Given the description of an element on the screen output the (x, y) to click on. 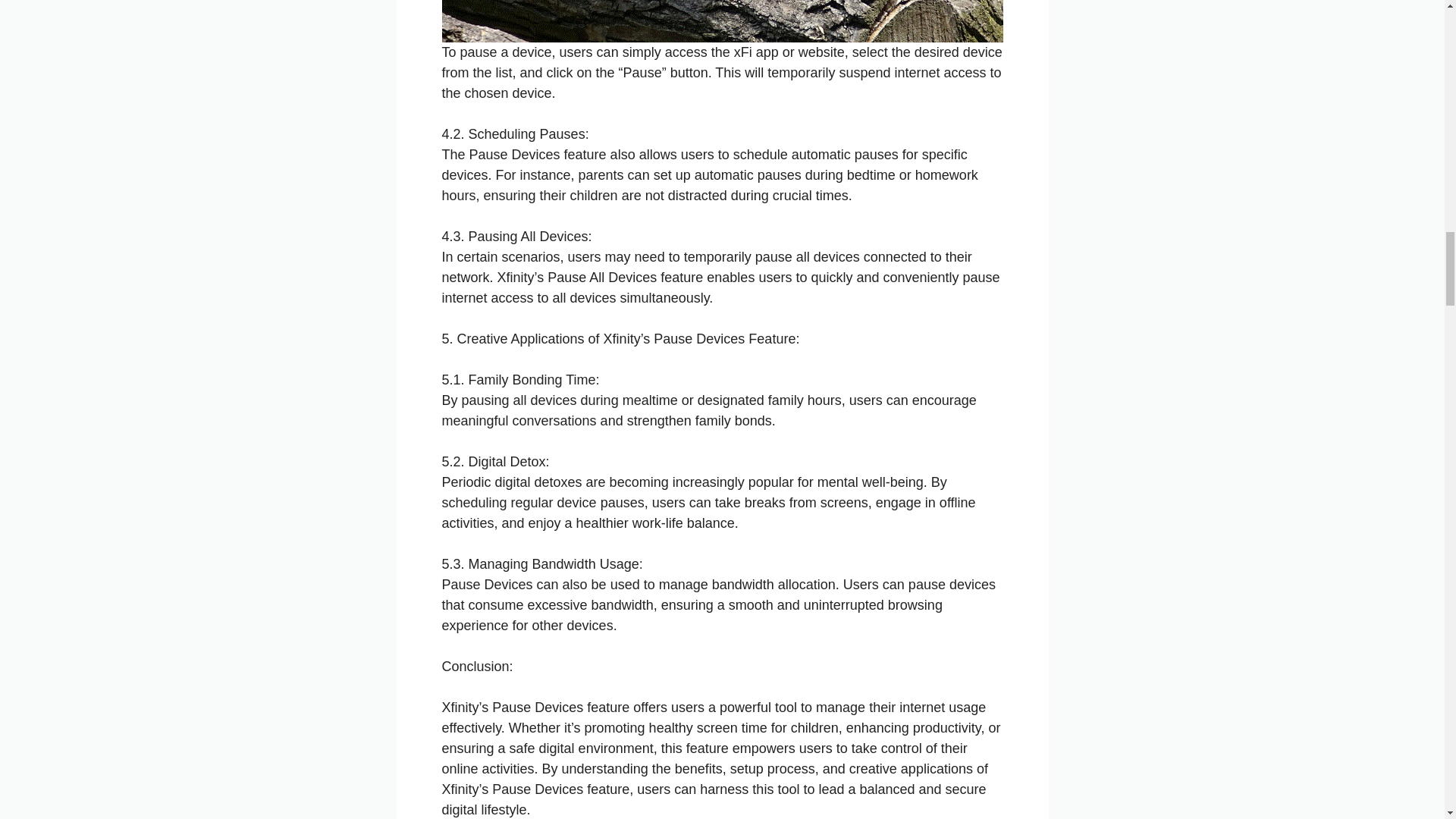
Lemur Animal (722, 21)
